Given the description of an element on the screen output the (x, y) to click on. 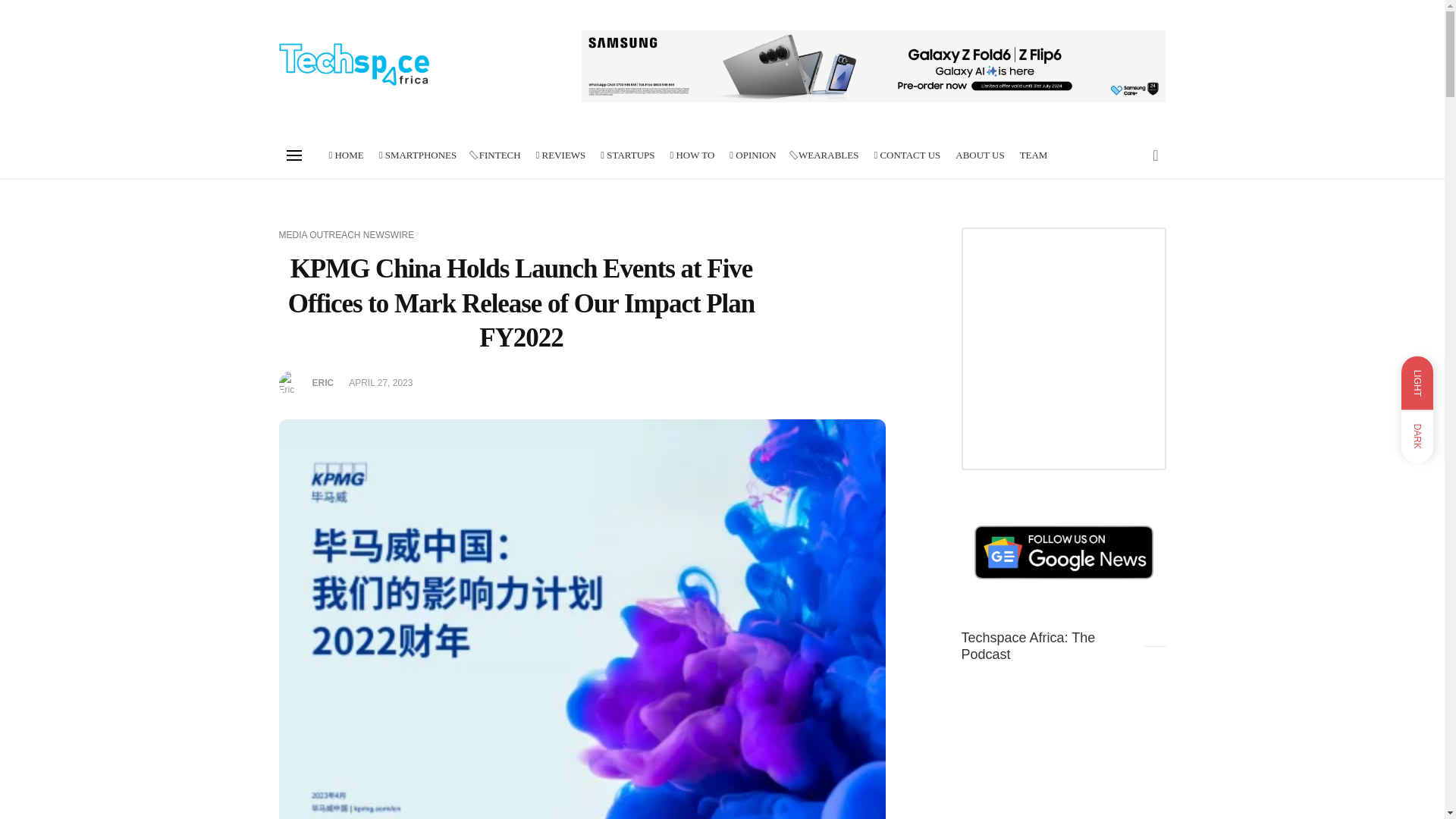
STARTUPS (627, 155)
SMARTPHONES (417, 155)
REVIEWS (561, 155)
HOME (1416, 409)
FINTECH (346, 155)
